Given the description of an element on the screen output the (x, y) to click on. 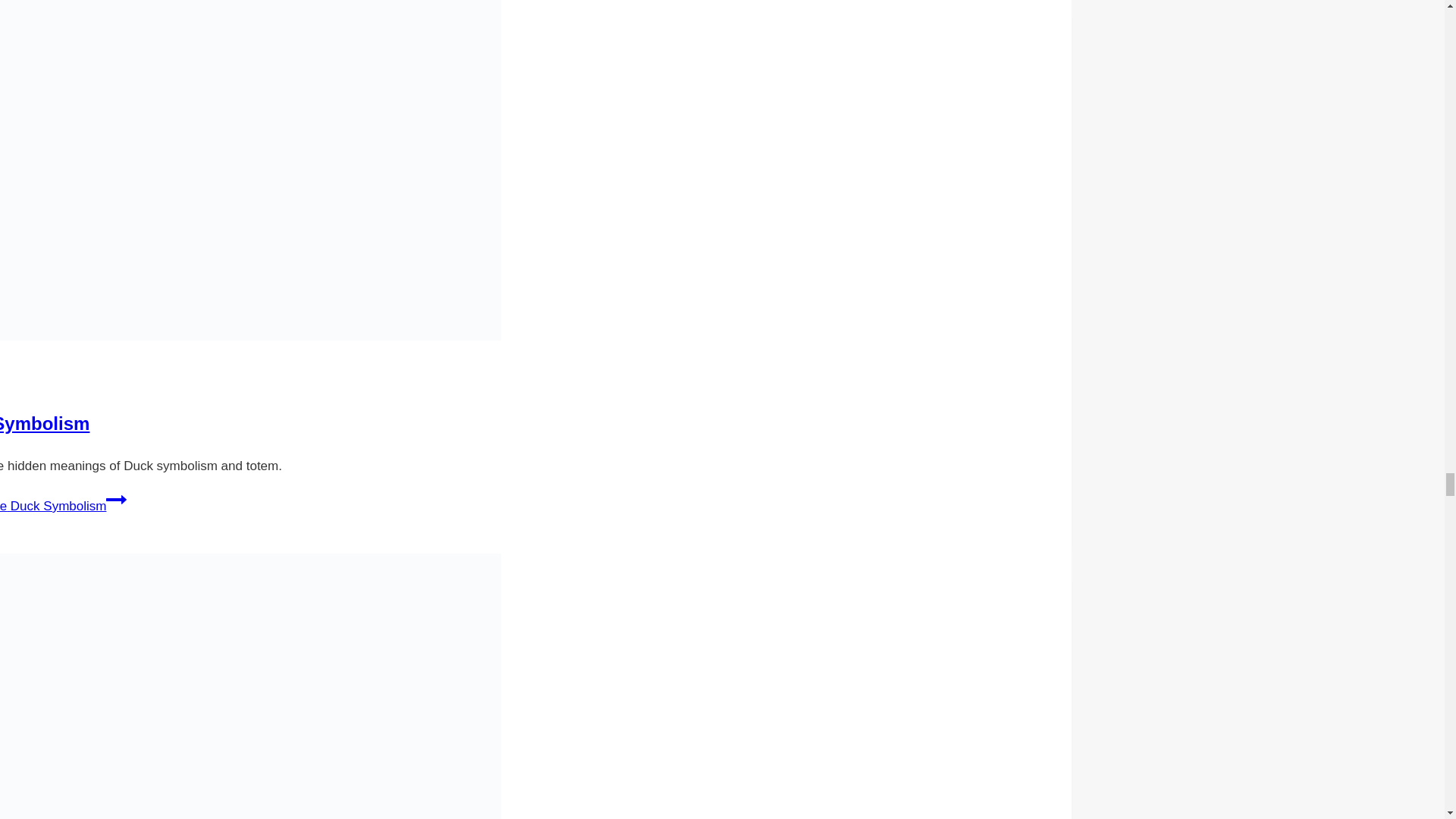
Continue (116, 499)
Merganser Symbolism and Meaning 11 (250, 686)
